Given the description of an element on the screen output the (x, y) to click on. 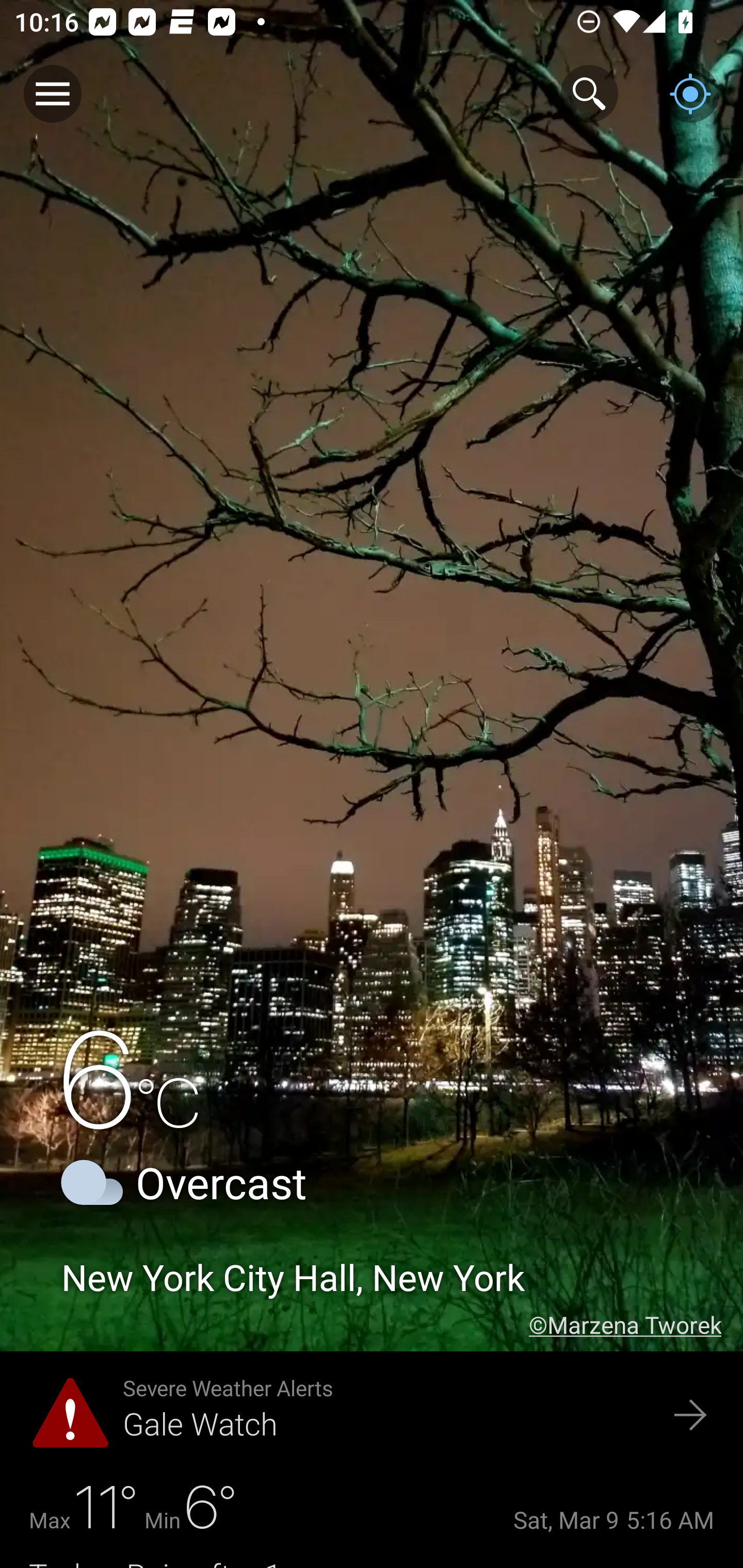
©Marzena Tworek (635, 1324)
Severe Weather Alerts Gale Watch  (371, 1416)
